Given the description of an element on the screen output the (x, y) to click on. 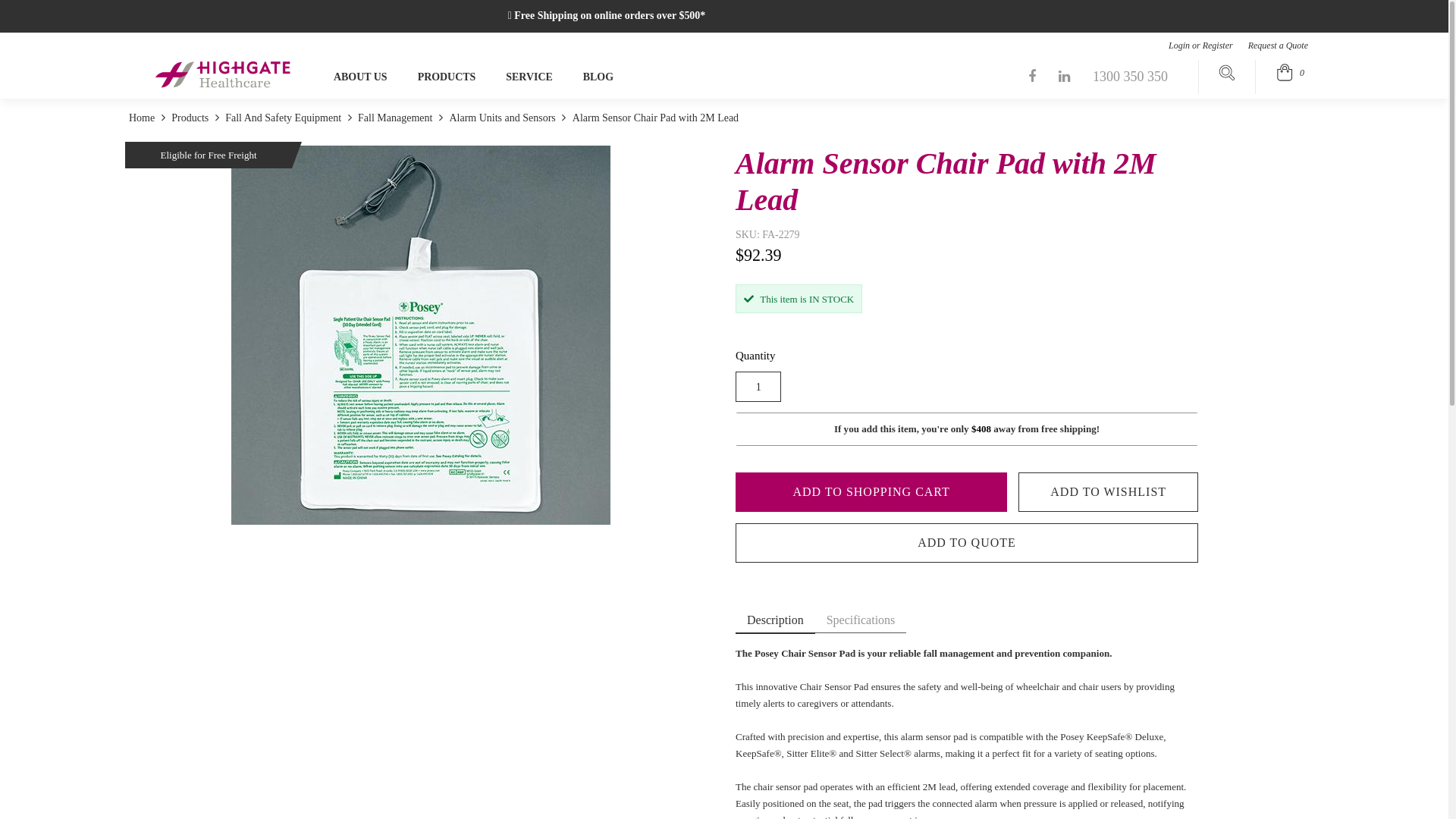
Fall Management Element type: text (395, 117)
Highgate Healthcare Element type: hover (223, 74)
Description Element type: text (775, 620)
0 Element type: text (1291, 72)
Register Element type: text (1221, 45)
ADD TO QUOTE Element type: text (966, 542)
Fall And Safety Equipment Element type: text (283, 117)
ADD TO WISHLIST Element type: text (1108, 491)
1300 350 350 Element type: text (1129, 76)
Login Element type: text (1175, 45)
BLOG Element type: text (598, 76)
PRODUCTS Element type: text (446, 76)
Specifications Element type: text (860, 620)
ADD TO SHOPPING CART Element type: text (871, 491)
Request a Quote Element type: text (1277, 45)
Home Element type: text (142, 117)
Search Element type: hover (1226, 74)
Alarm Units and Sensors Element type: text (502, 117)
Products Element type: text (190, 117)
ABOUT US Element type: text (360, 76)
SERVICE Element type: text (528, 76)
